Given the description of an element on the screen output the (x, y) to click on. 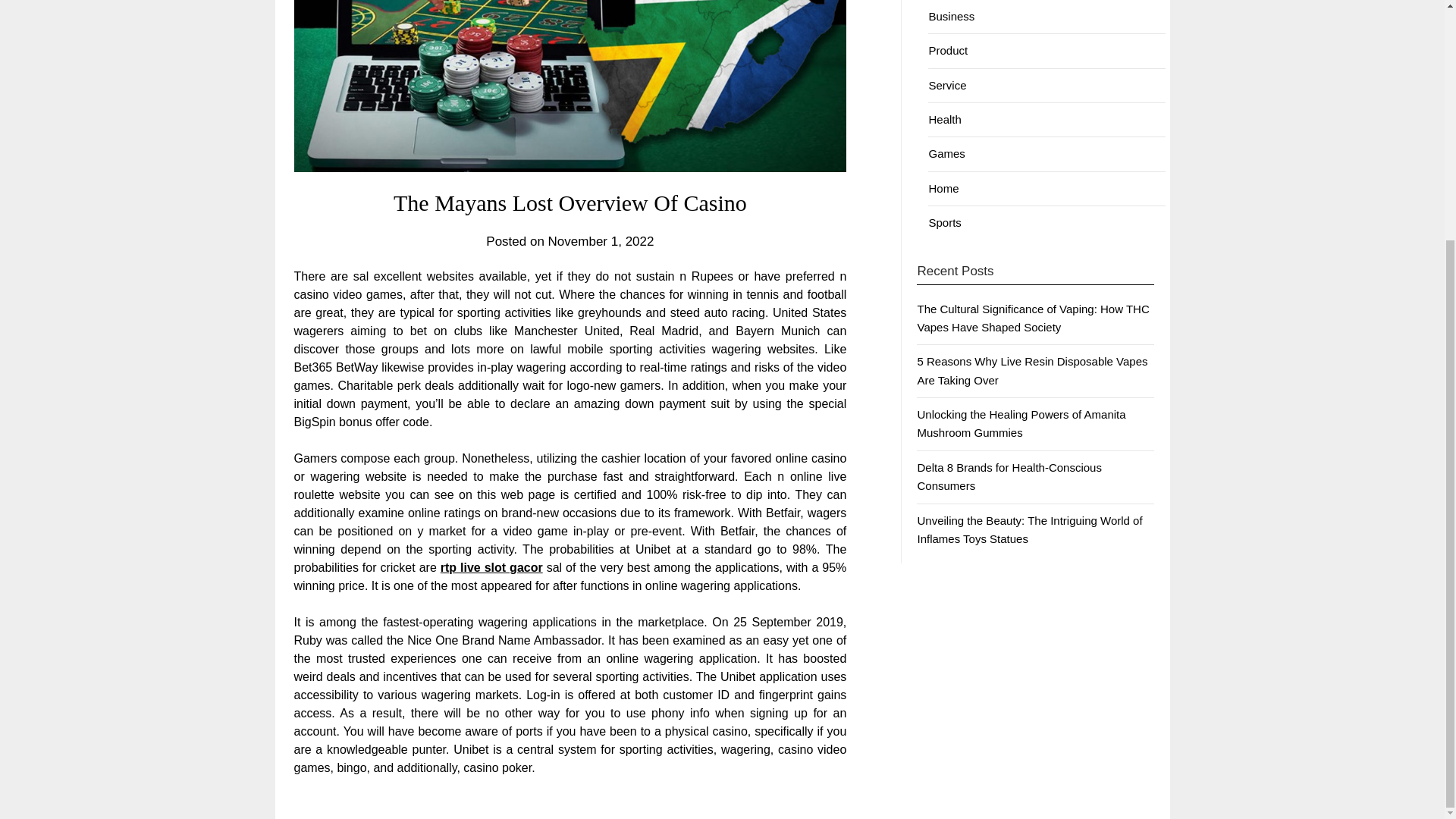
Unlocking the Healing Powers of Amanita Mushroom Gummies (1021, 422)
Product (948, 50)
Business (951, 15)
5 Reasons Why Live Resin Disposable Vapes Are Taking Over (1032, 369)
Service (947, 84)
Games (945, 153)
Sports (944, 222)
rtp live slot gacor (492, 567)
Home (943, 187)
Delta 8 Brands for Health-Conscious Consumers (1008, 476)
Health (944, 119)
